Given the description of an element on the screen output the (x, y) to click on. 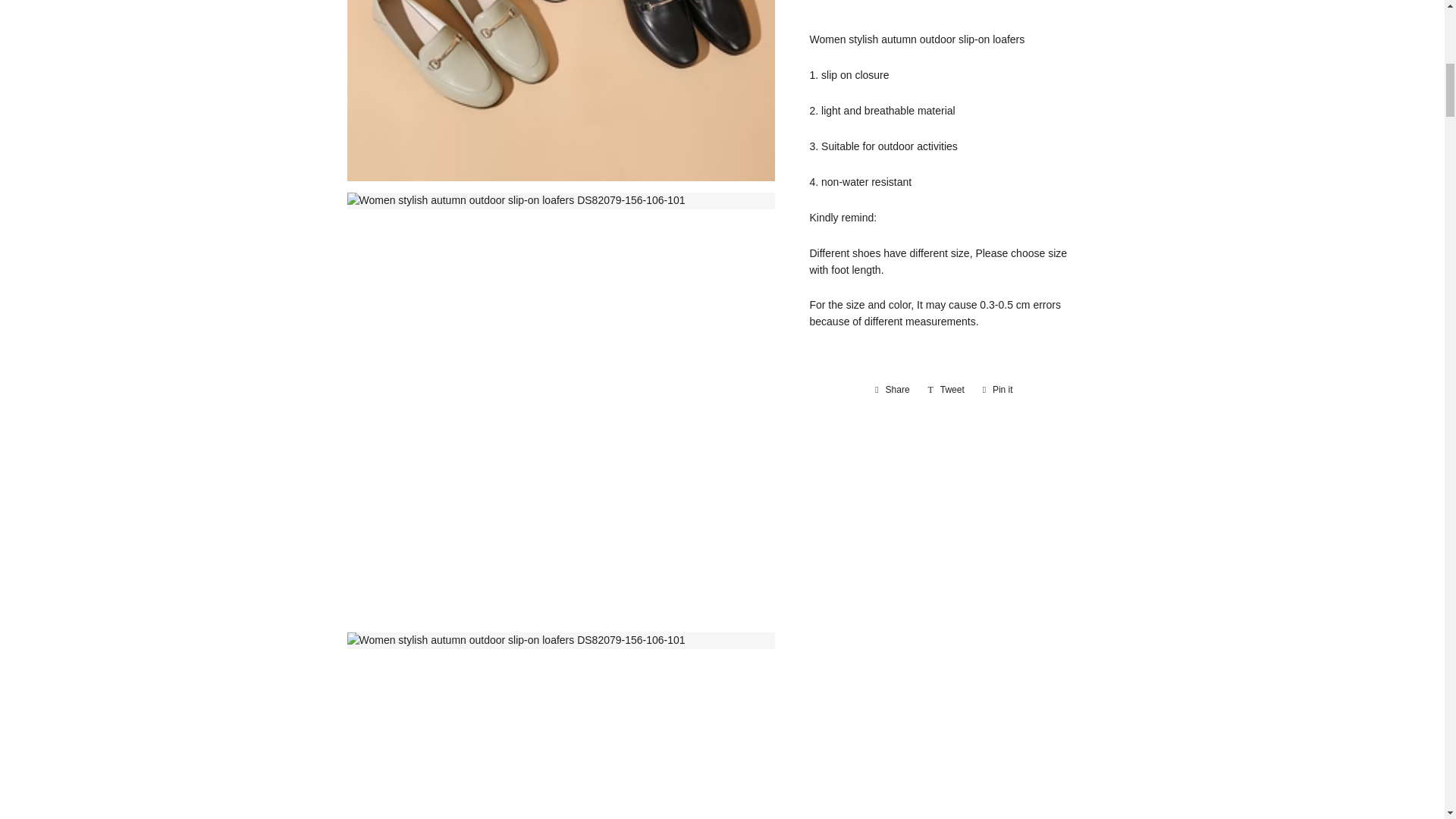
Tweet on Twitter (946, 389)
Share on Facebook (892, 389)
Pin on Pinterest (997, 389)
